Given the description of an element on the screen output the (x, y) to click on. 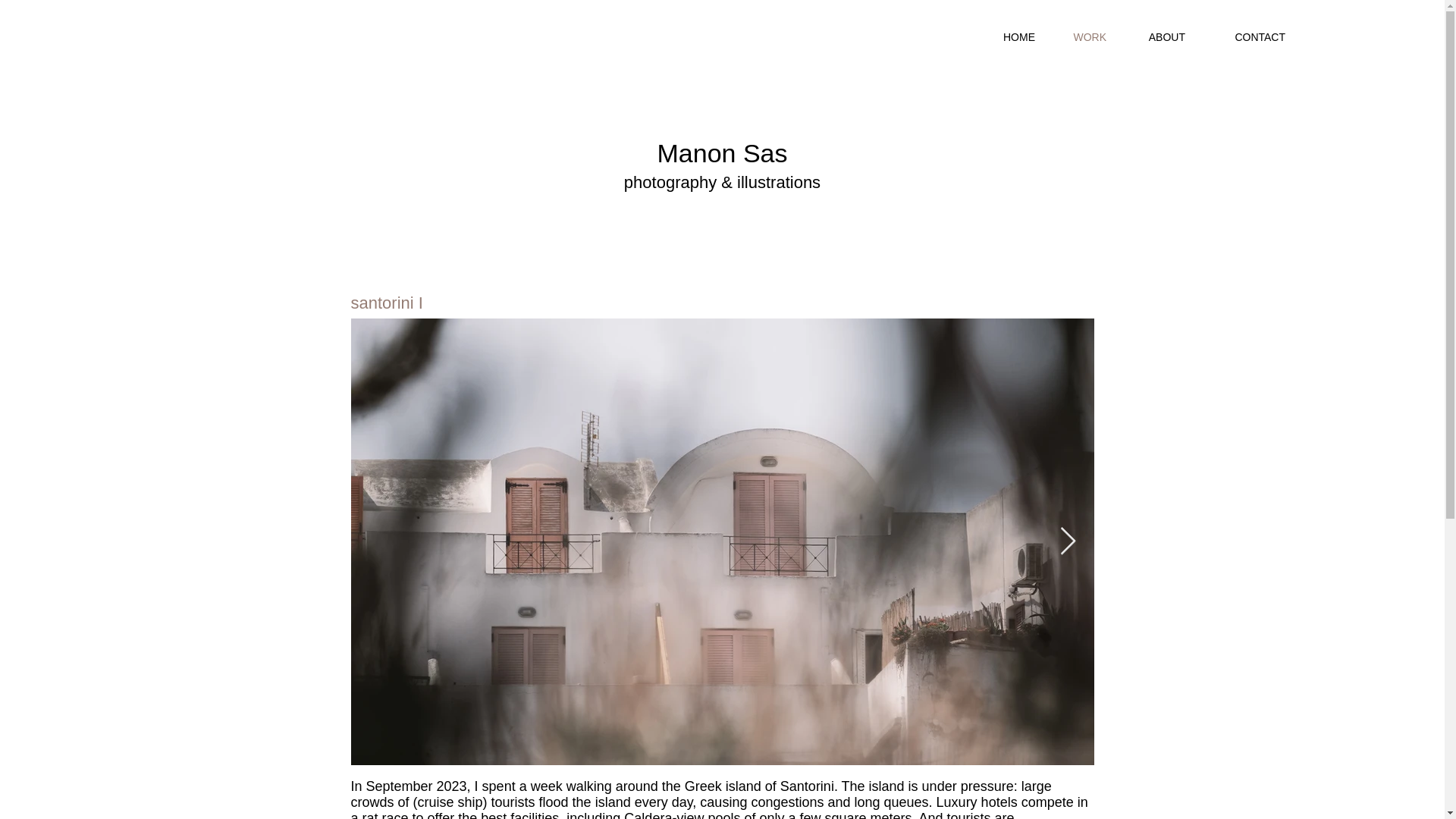
CONTACT (1246, 37)
HOME (1011, 37)
Manon Sas (721, 152)
ABOUT (1157, 37)
WORK (1082, 37)
